Given the description of an element on the screen output the (x, y) to click on. 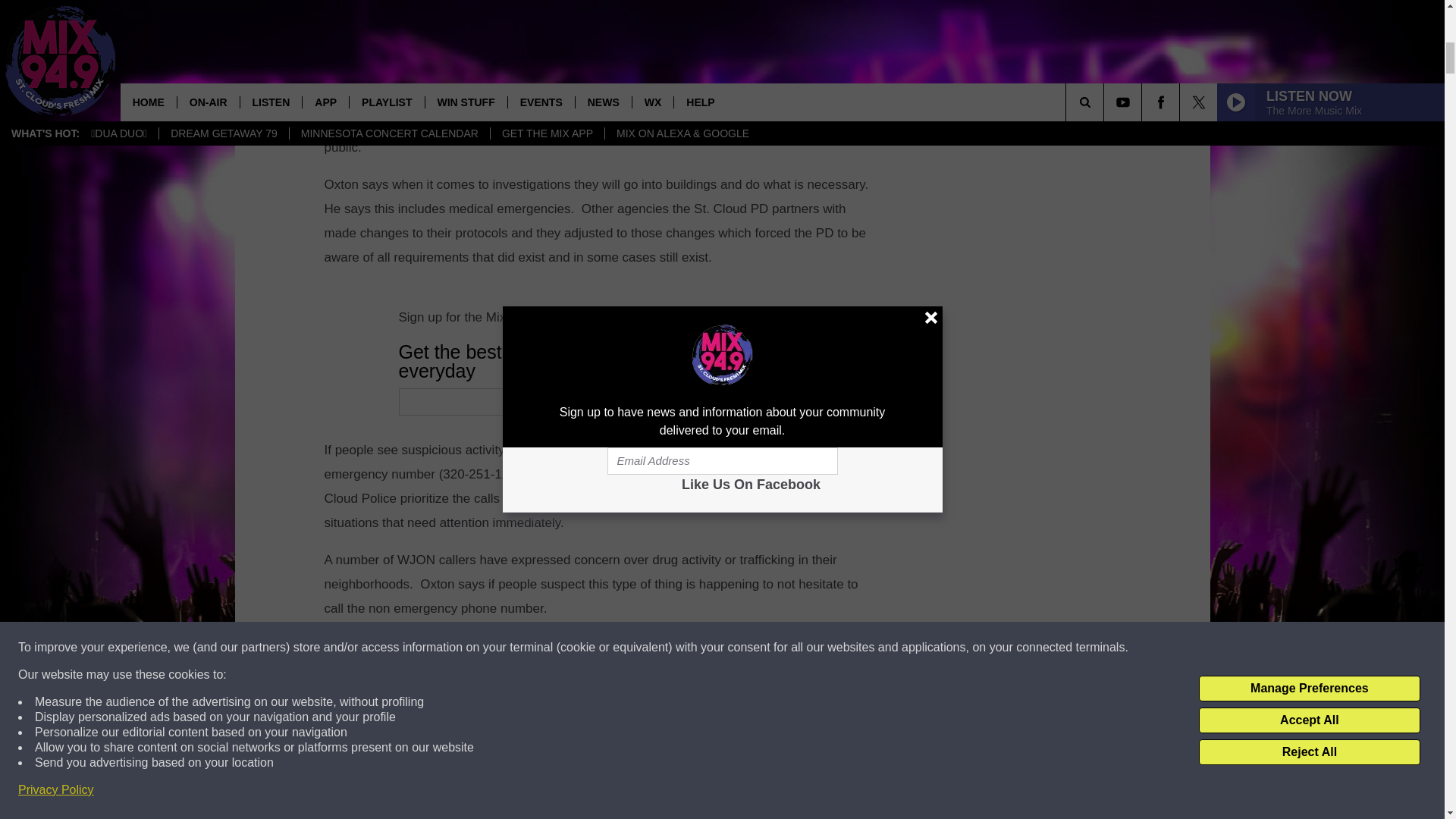
Email Address (669, 401)
